Given the description of an element on the screen output the (x, y) to click on. 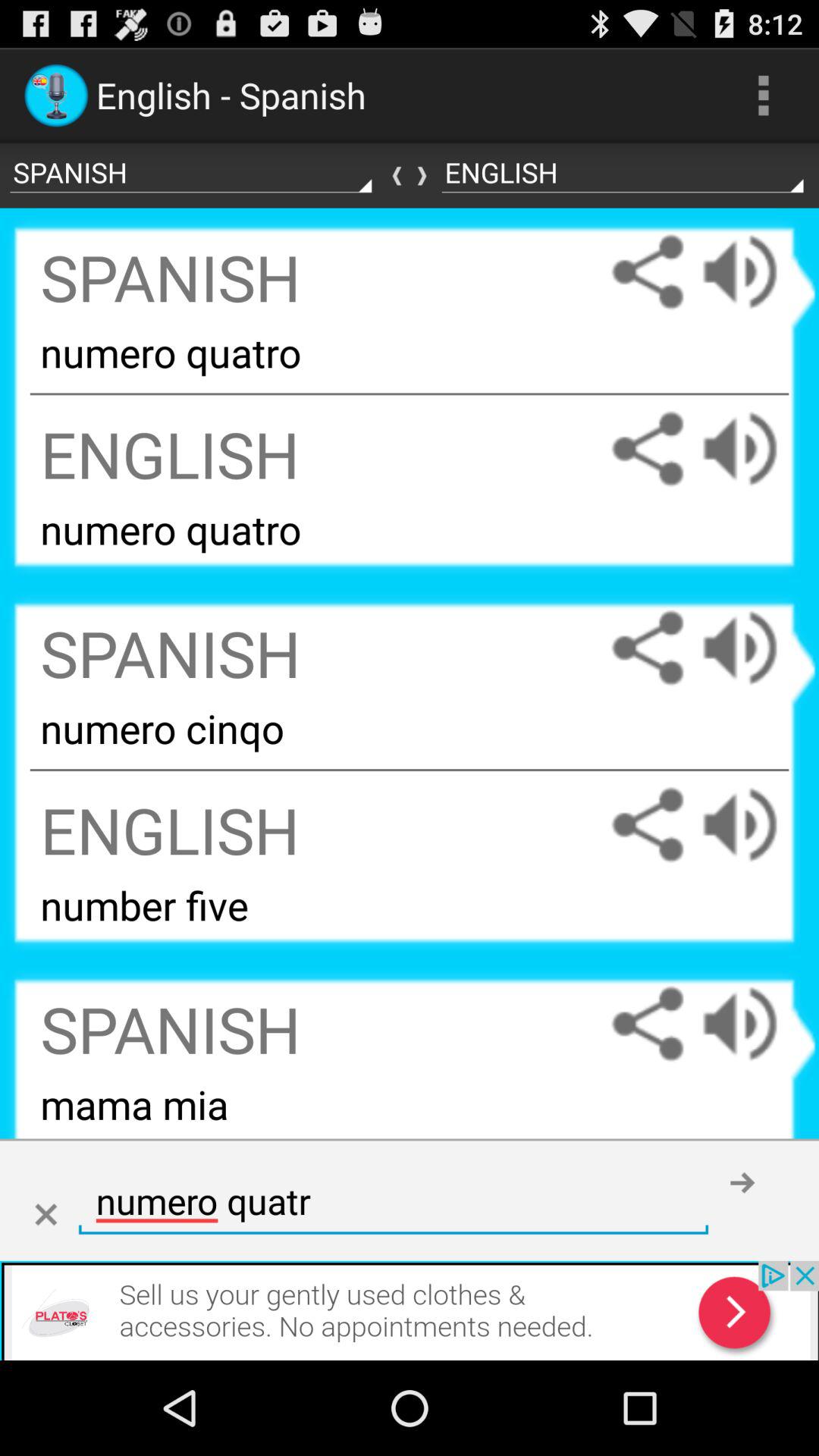
share button (647, 1023)
